Given the description of an element on the screen output the (x, y) to click on. 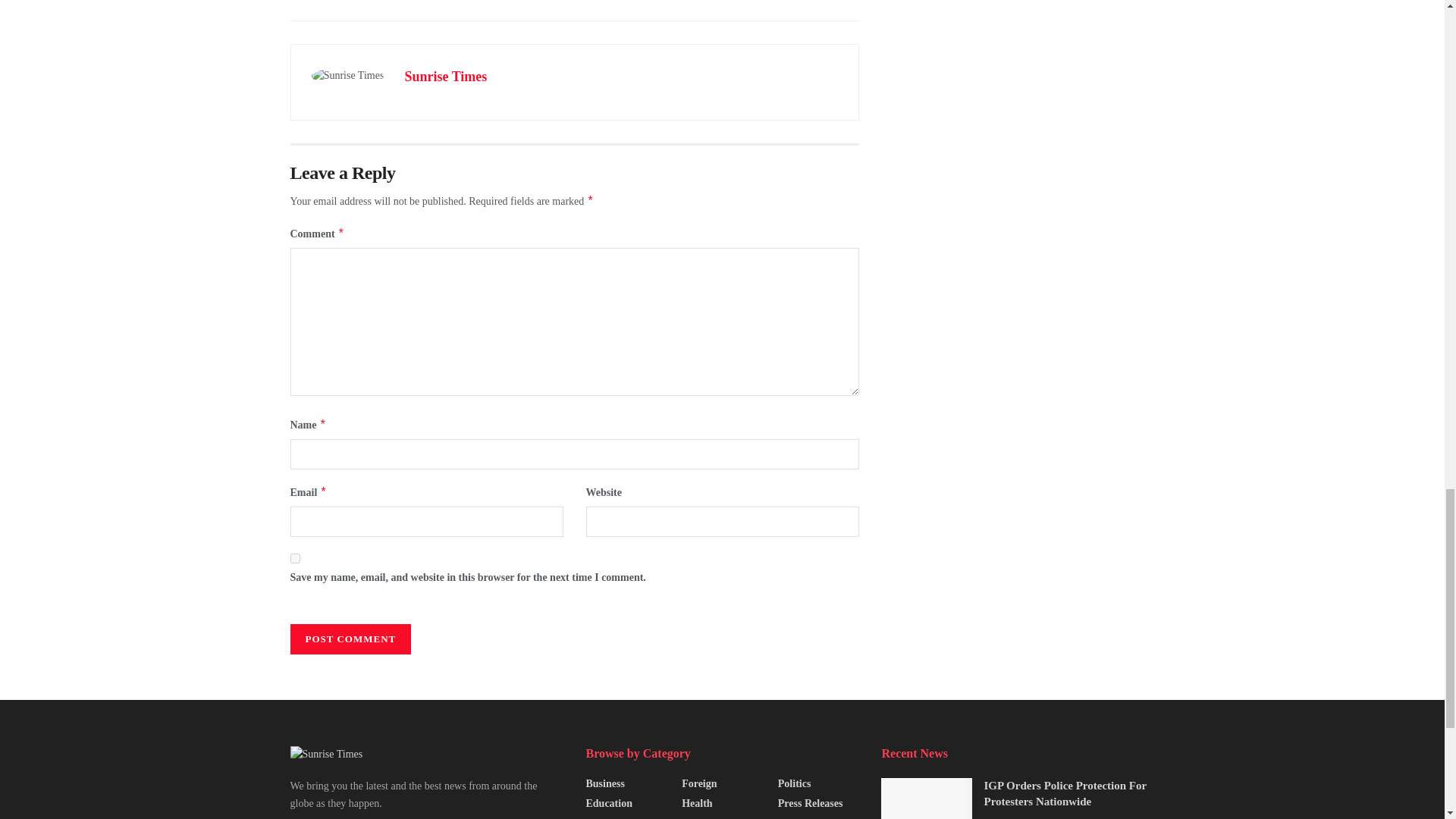
yes (294, 558)
Post Comment (349, 639)
